Given the description of an element on the screen output the (x, y) to click on. 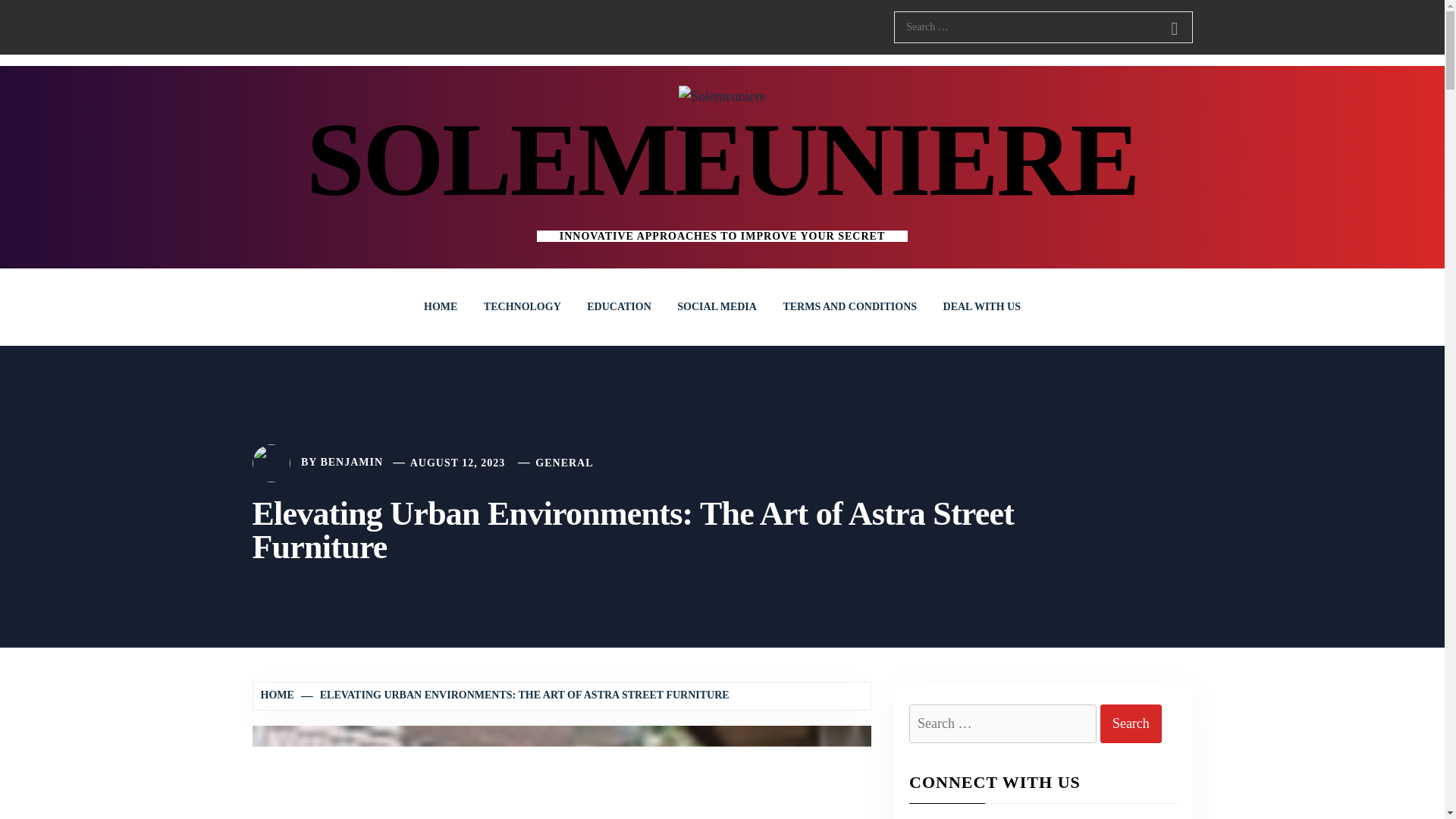
BENJAMIN (351, 462)
AUGUST 12, 2023 (457, 462)
Search (1130, 723)
SOLEMEUNIERE (721, 159)
EDUCATION (618, 307)
Search (1174, 28)
TECHNOLOGY (521, 307)
SOCIAL MEDIA (716, 307)
HOME (279, 695)
GENERAL (563, 462)
